Given the description of an element on the screen output the (x, y) to click on. 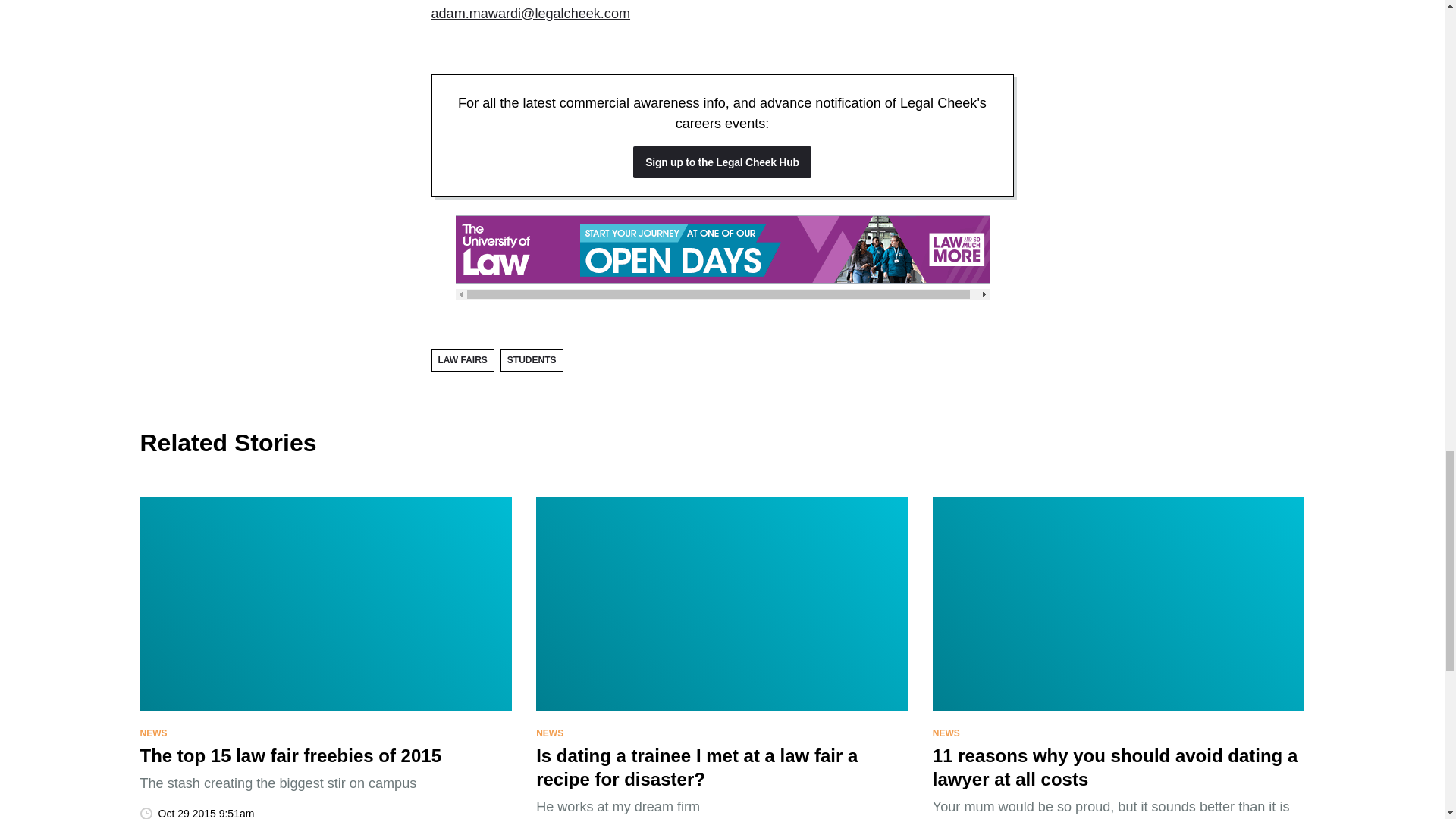
advertisement (721, 249)
STUDENTS (531, 359)
LAW FAIRS (461, 359)
Sign up to the Legal Cheek Hub (721, 162)
